Given the description of an element on the screen output the (x, y) to click on. 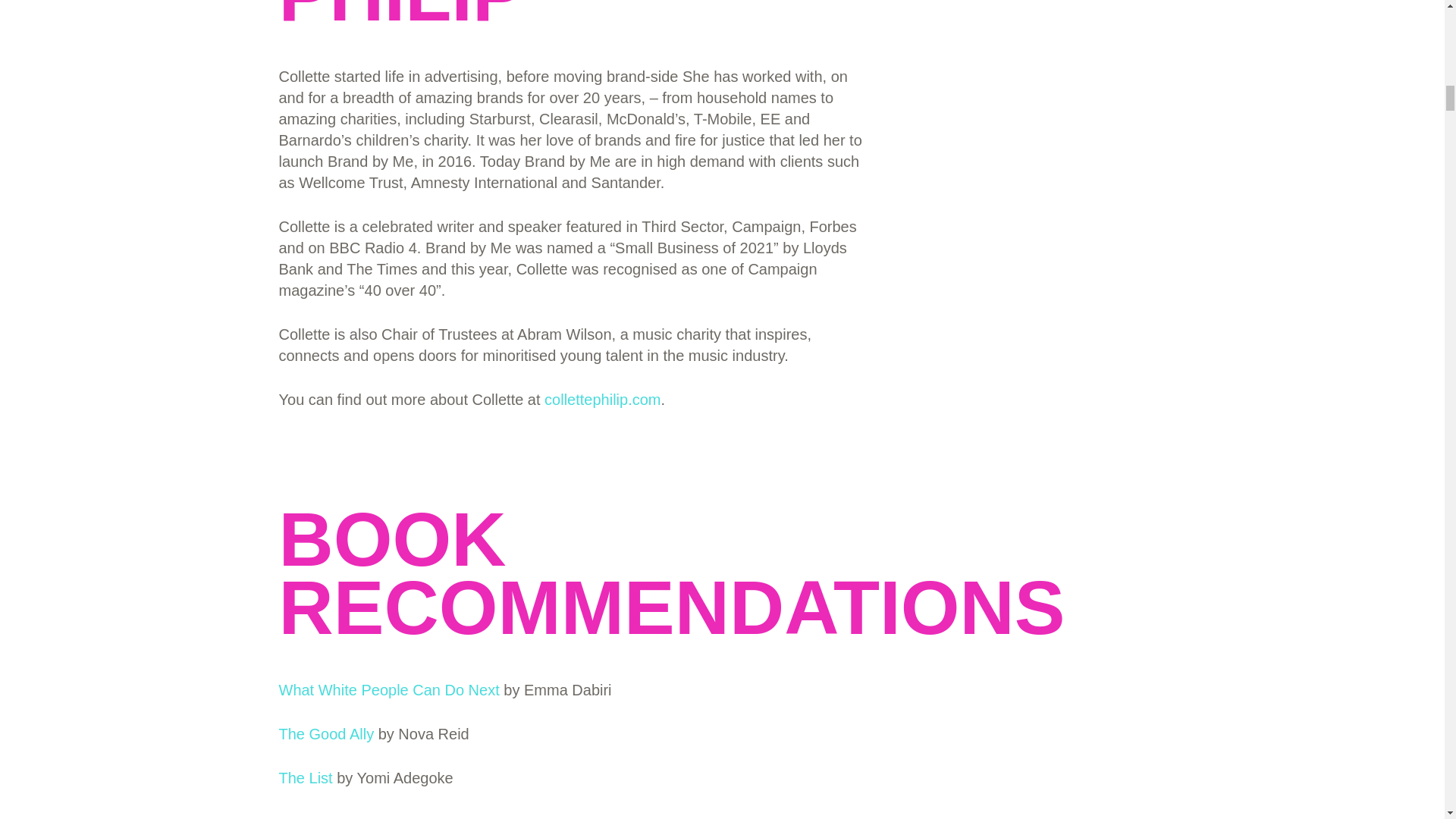
collettephilip.com (602, 399)
What White People Can Do Next (389, 689)
The List (306, 777)
The Good Ally (326, 733)
